Given the description of an element on the screen output the (x, y) to click on. 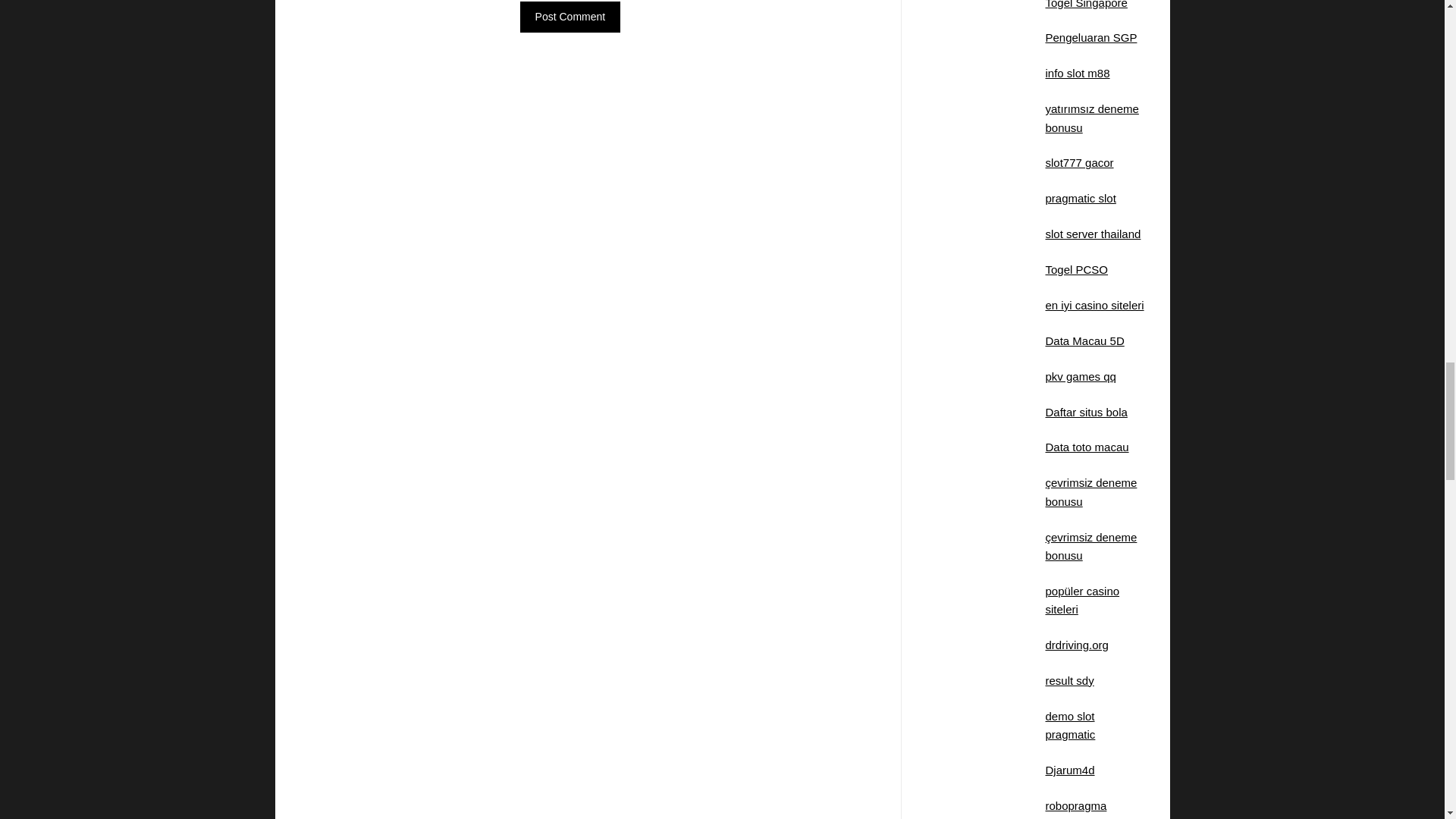
Post Comment (570, 16)
Post Comment (570, 16)
